Given the description of an element on the screen output the (x, y) to click on. 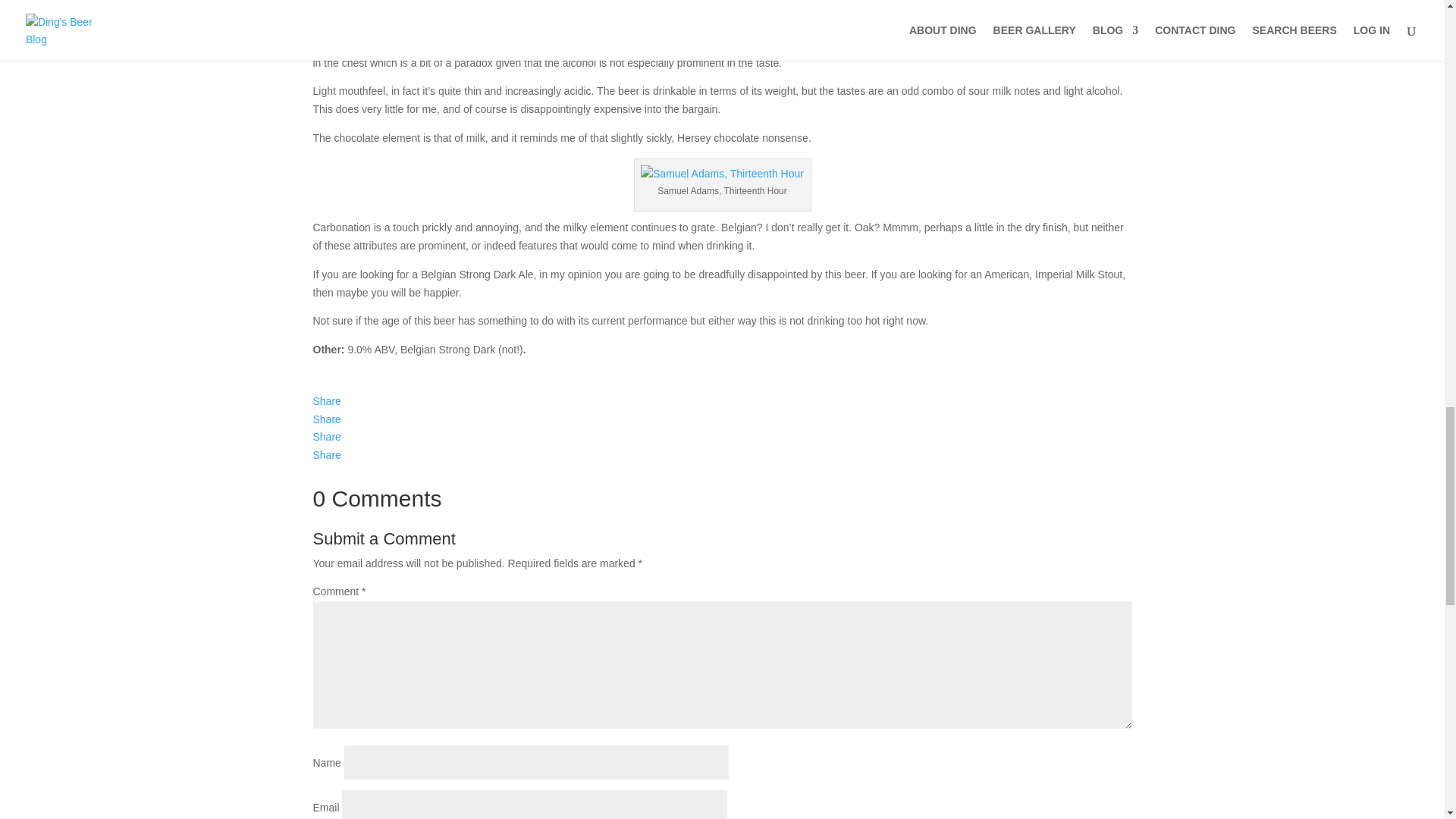
Share (722, 420)
Share (722, 402)
Share (722, 437)
Share (722, 455)
Samuel Adams, Thirteenth Hour (721, 174)
